Given the description of an element on the screen output the (x, y) to click on. 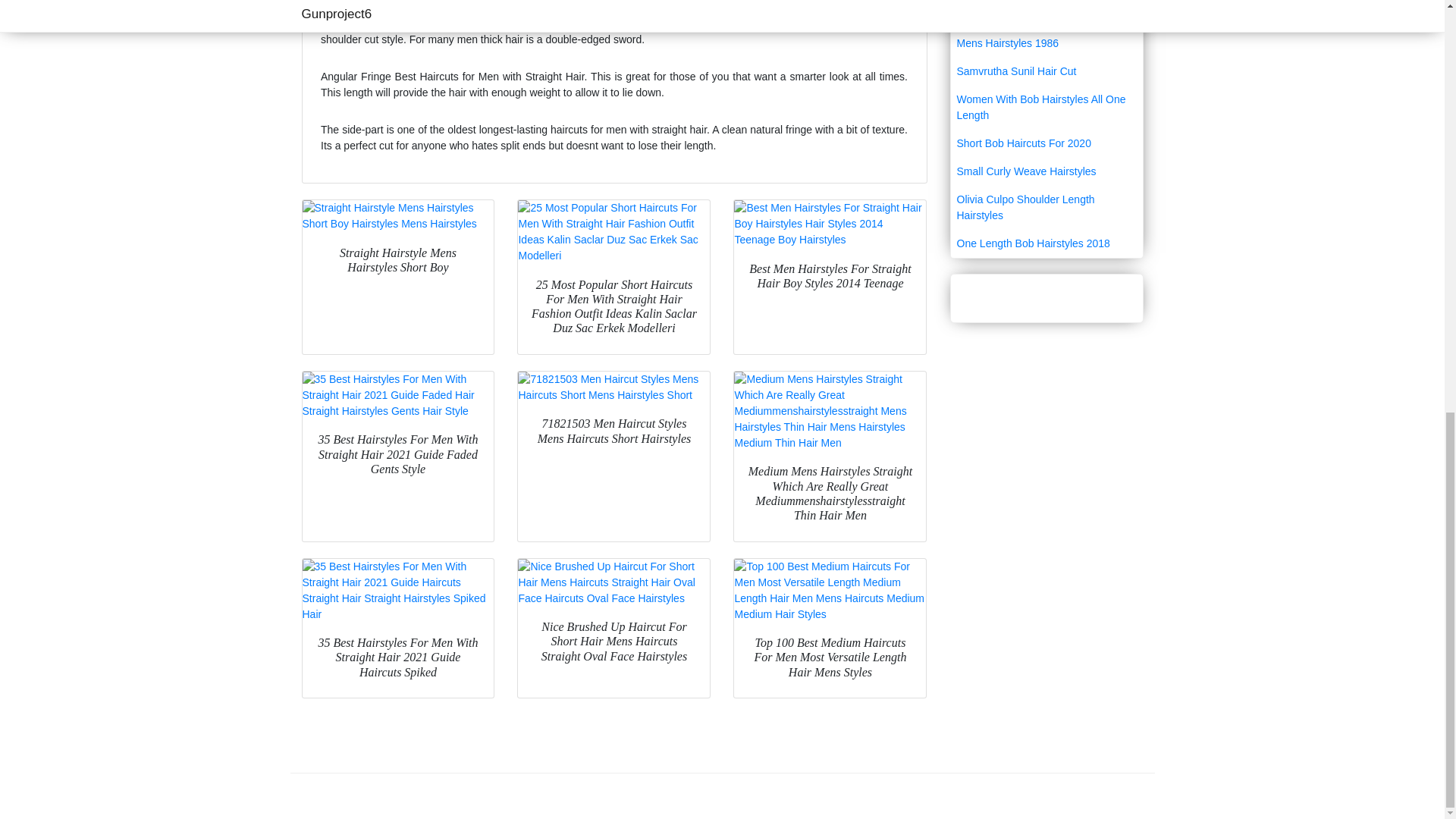
Men Hairstyle Online (1046, 15)
Mens Hairstyles 1986 (1046, 43)
